Given the description of an element on the screen output the (x, y) to click on. 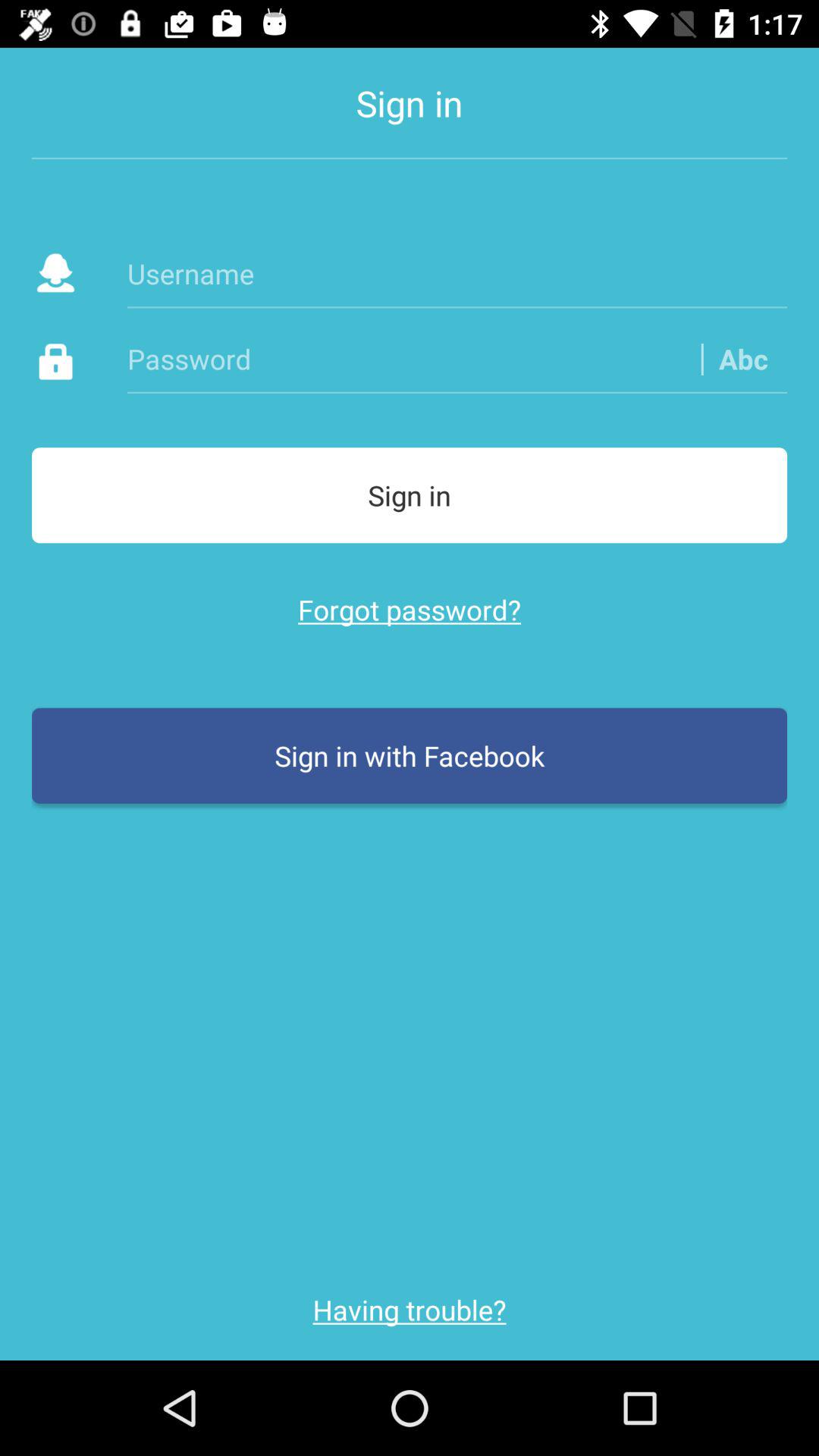
select icon above the sign in (743, 358)
